Given the description of an element on the screen output the (x, y) to click on. 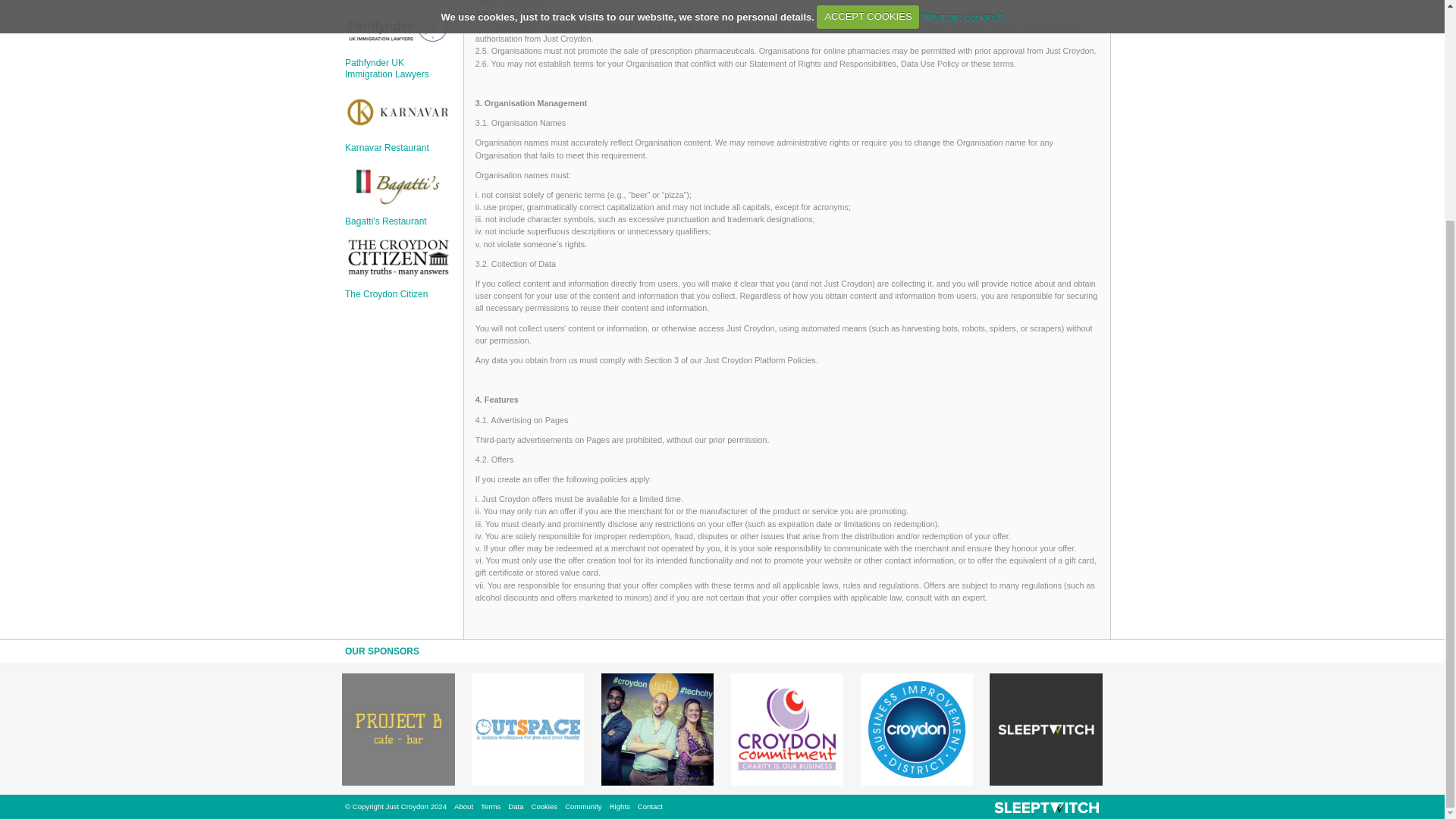
Project B (398, 729)
Pathfynder UK Immigration Lawyers (387, 67)
Sign Up (85, 53)
Pathfynder UK Immigration Lawyers (398, 26)
The Croydon Citizen (84, 312)
Croydon Commitment (786, 729)
Bagatti (84, 201)
Croydon Tech City (657, 729)
Networks (85, 9)
Partners (85, 29)
